Given the description of an element on the screen output the (x, y) to click on. 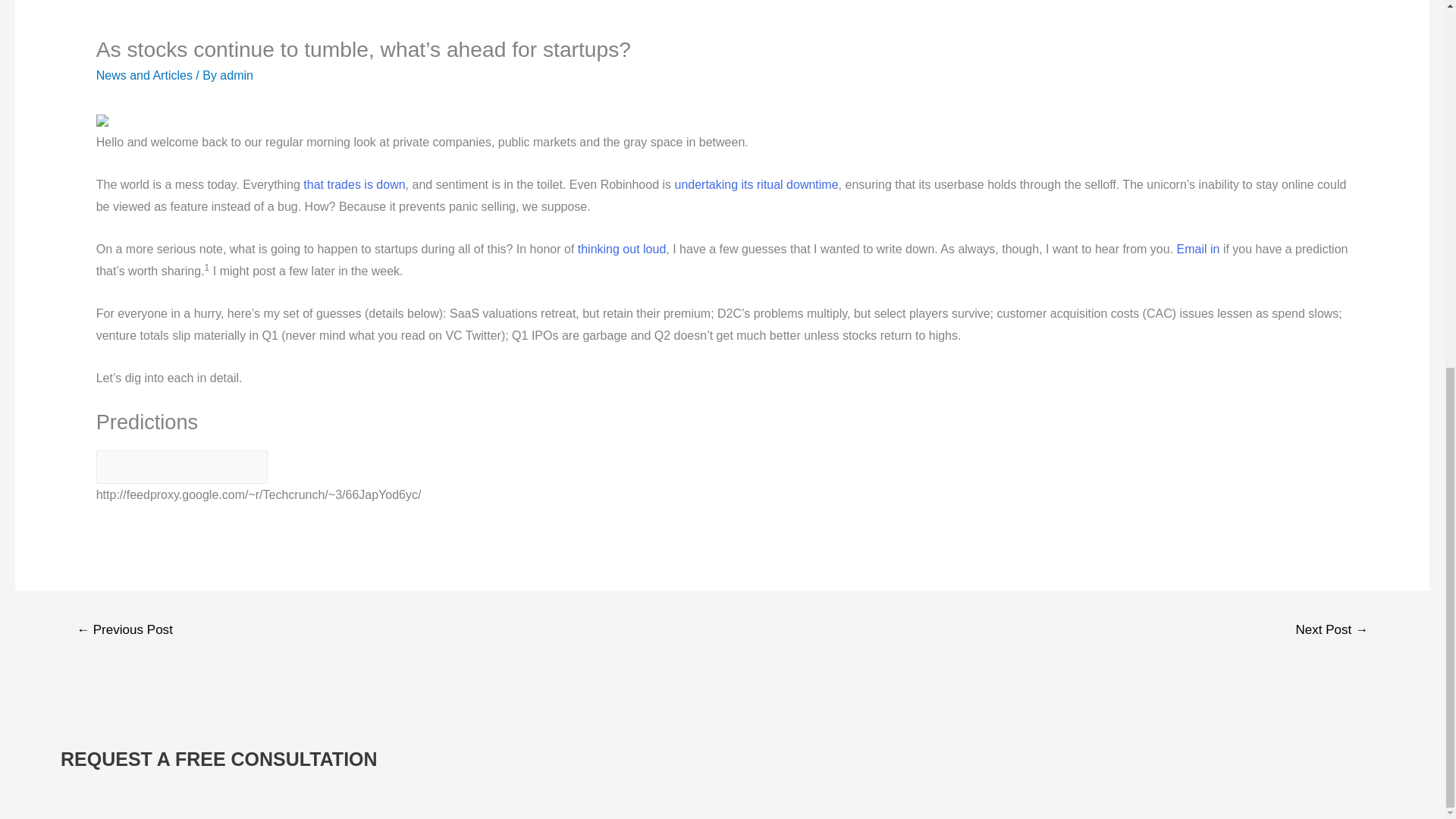
View all posts by admin (236, 74)
Article Shortlink (181, 467)
